Given the description of an element on the screen output the (x, y) to click on. 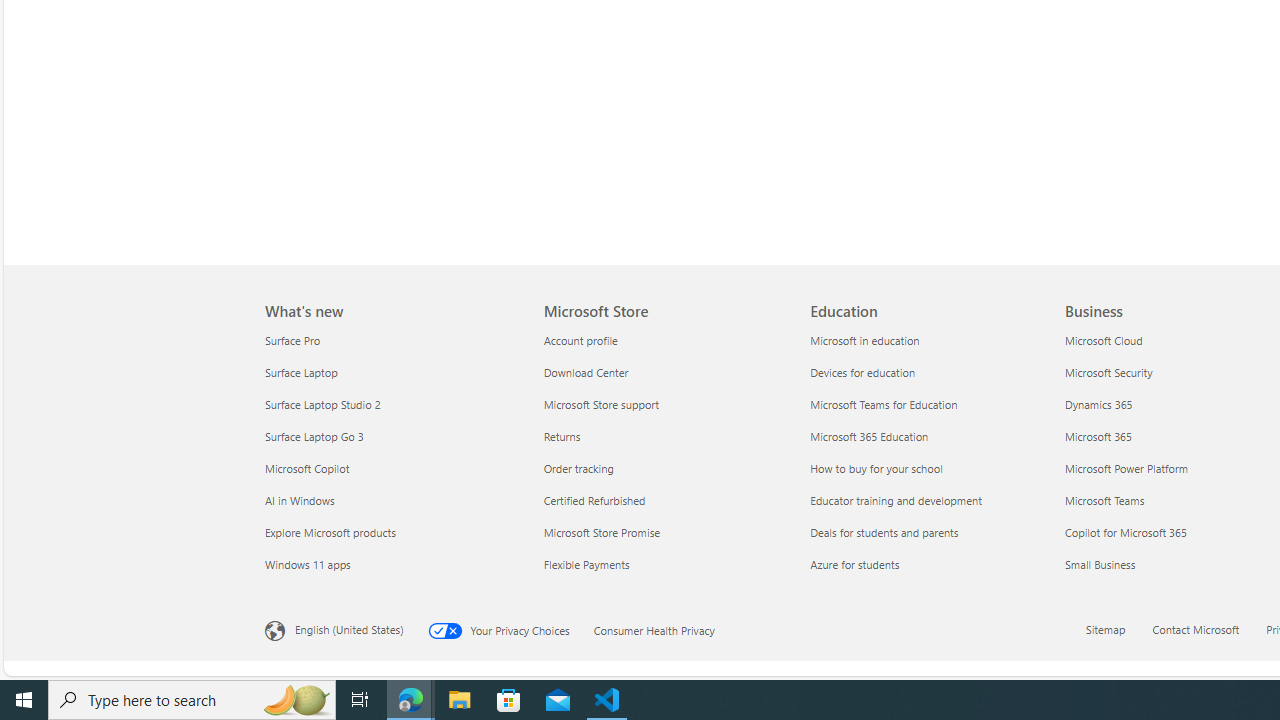
Surface Pro What's new (292, 339)
Your Privacy Choices Opt-Out Icon Your Privacy Choices (510, 628)
Surface Laptop Go 3 (391, 435)
Account profile Microsoft Store (580, 339)
Contact Microsoft (1196, 628)
Surface Laptop What's new (300, 372)
Microsoft Store Promise (664, 532)
Educator training and development Education (896, 499)
Deals for students and parents (931, 532)
Microsoft 365 Business (1097, 435)
Contact Microsoft (1208, 631)
Sitemap (1117, 631)
Deals for students and parents Education (884, 532)
Microsoft Store support Microsoft Store (600, 403)
